Given the description of an element on the screen output the (x, y) to click on. 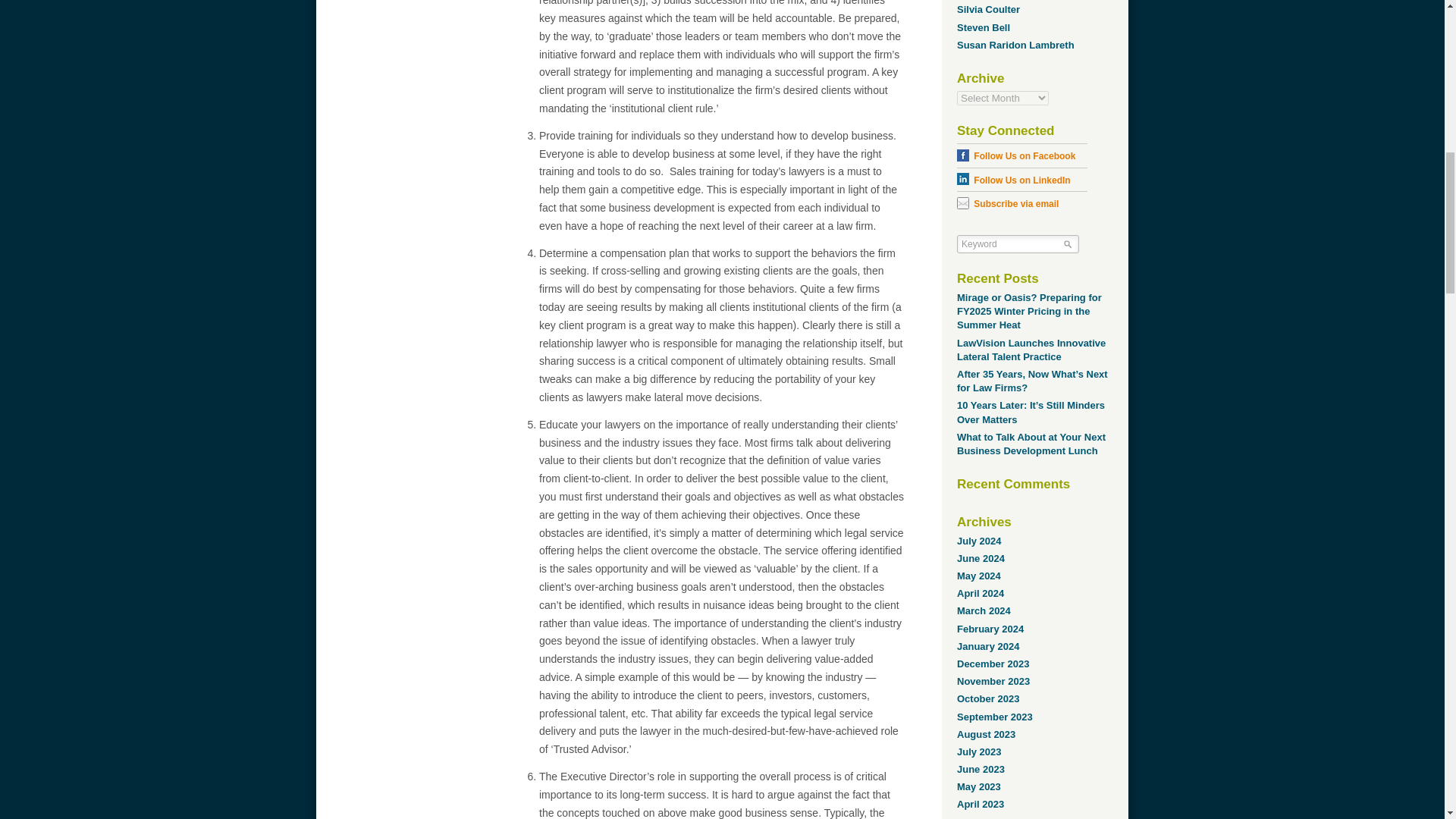
Posts by Silvia Coulter (988, 9)
Posts by Steven Bell (983, 27)
Posts by Susan Raridon Lambreth (1015, 44)
